Given the description of an element on the screen output the (x, y) to click on. 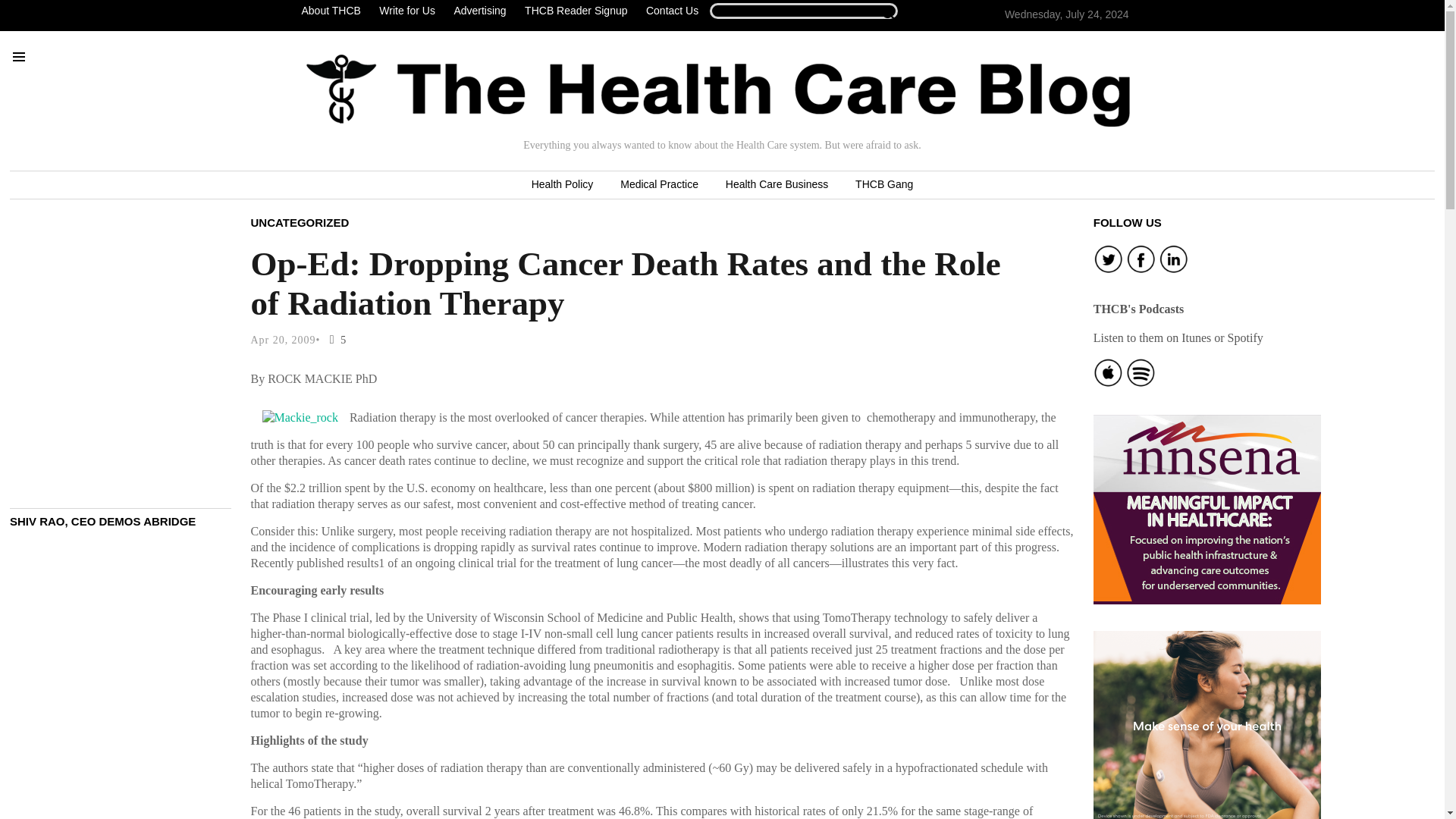
UNCATEGORIZED (299, 221)
5 (334, 339)
Medical Practice (659, 184)
THCB Reader Signup (575, 10)
Health Care Business (776, 184)
Health Policy (562, 184)
About THCB (334, 10)
THCB Gang (883, 184)
Advertising (479, 10)
Contact Us (672, 10)
Home (718, 90)
Write for Us (406, 10)
